Given the description of an element on the screen output the (x, y) to click on. 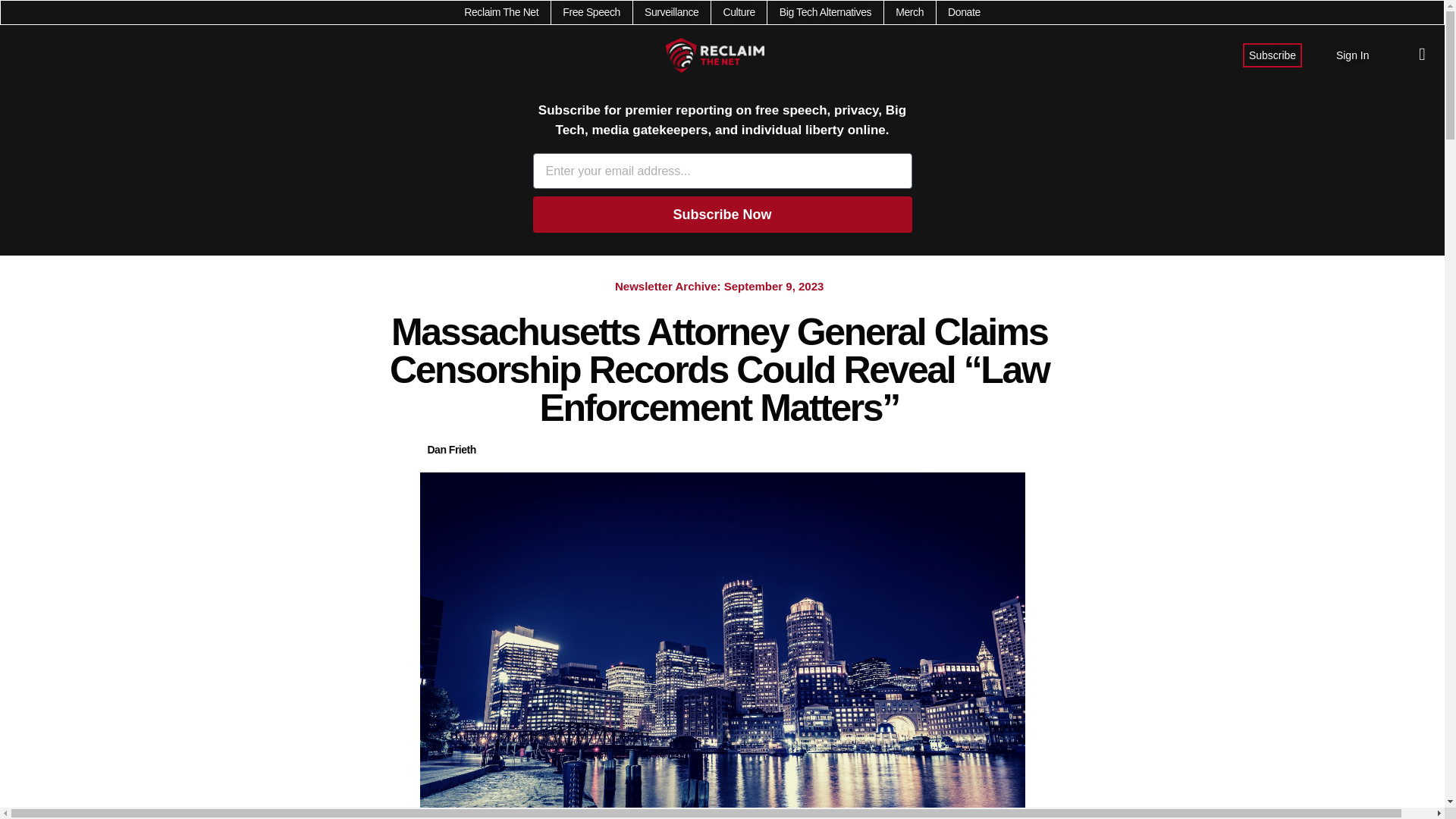
Merch (909, 12)
Dan Frieth (452, 449)
Subscribe (1272, 55)
Big Tech Alternatives (824, 12)
Surveillance (671, 12)
Sign In (1353, 55)
Reclaim The Net (501, 12)
Culture (738, 12)
Subscribe Now (721, 214)
Donate (963, 12)
Free Speech (591, 12)
